Given the description of an element on the screen output the (x, y) to click on. 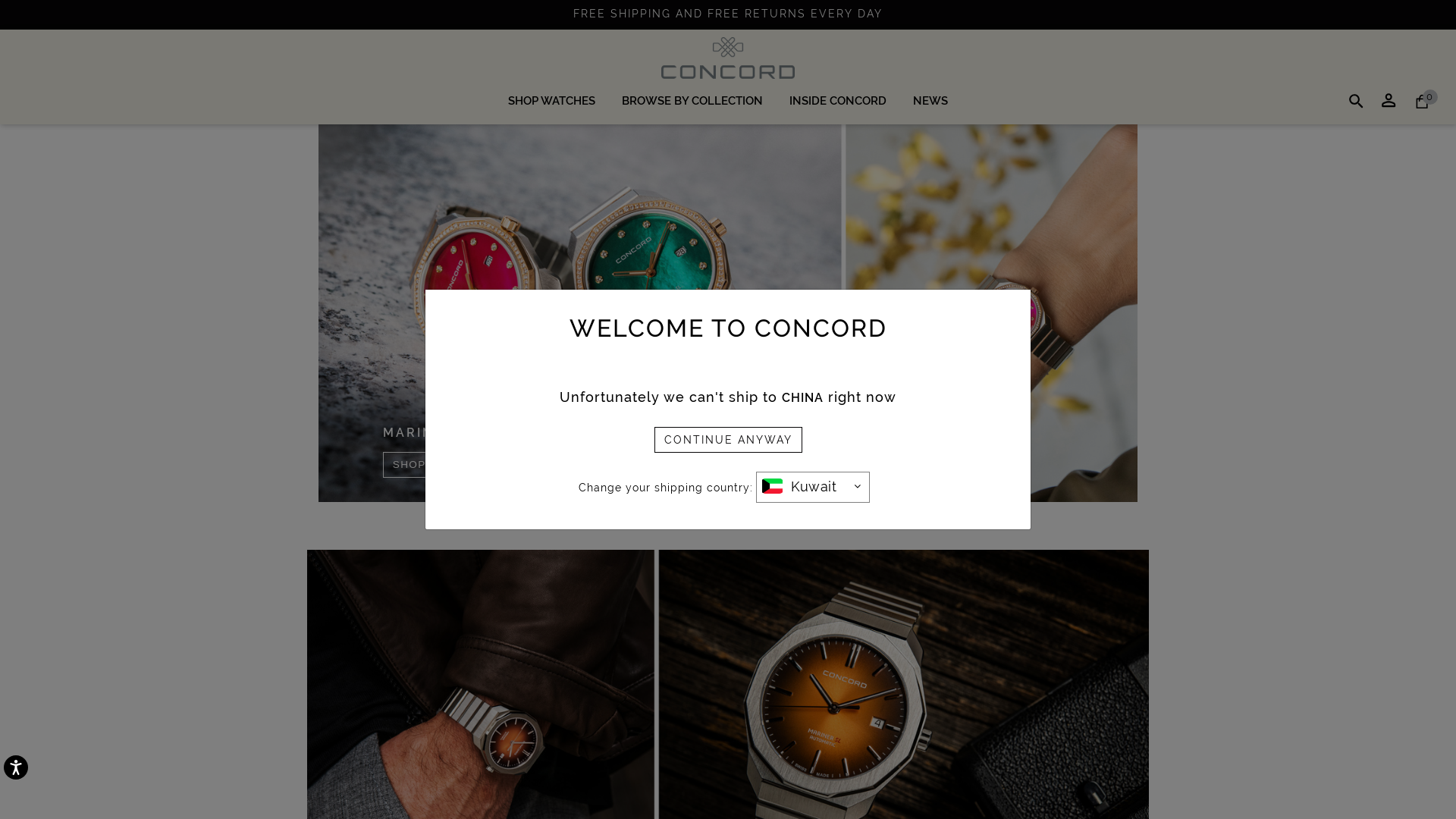
BROWSE BY COLLECTION Element type: text (691, 100)
SHOP WATCHES Element type: text (551, 100)
0 Element type: text (1421, 101)
NEWS Element type: text (930, 100)
SHOP THE COLLECTION Element type: hover (727, 743)
Accessibility Element type: text (33, 785)
INSIDE CONCORD Element type: text (837, 100)
1 Element type: text (713, 519)
CONTINUE ANYWAY Element type: text (727, 438)
SHOP THE COLLECTION Element type: hover (727, 313)
SHOP THE COLLECTION Element type: text (462, 464)
2 Element type: text (735, 519)
